Given the description of an element on the screen output the (x, y) to click on. 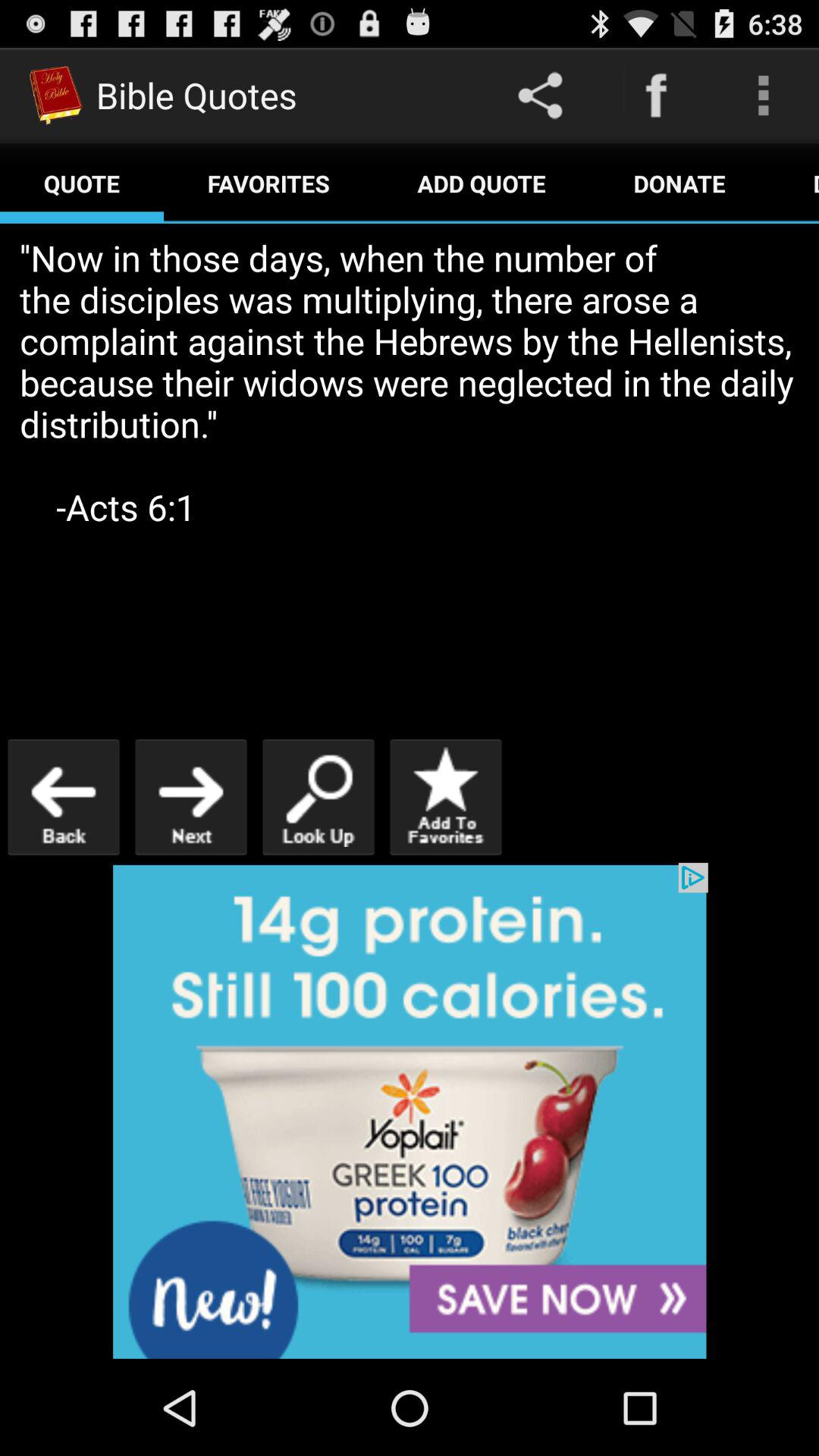
go to search (318, 796)
